Given the description of an element on the screen output the (x, y) to click on. 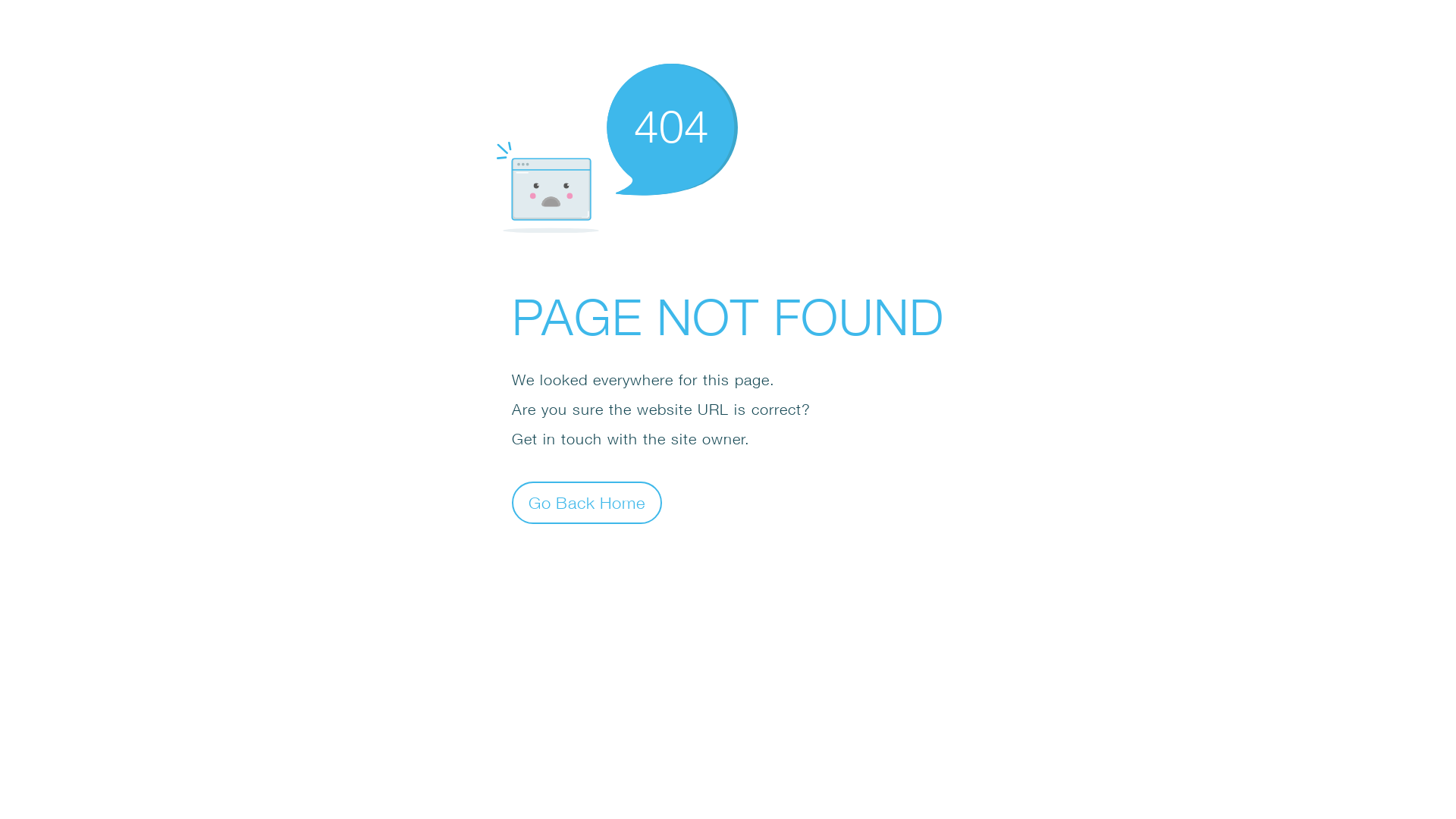
Go Back Home Element type: text (586, 502)
